Given the description of an element on the screen output the (x, y) to click on. 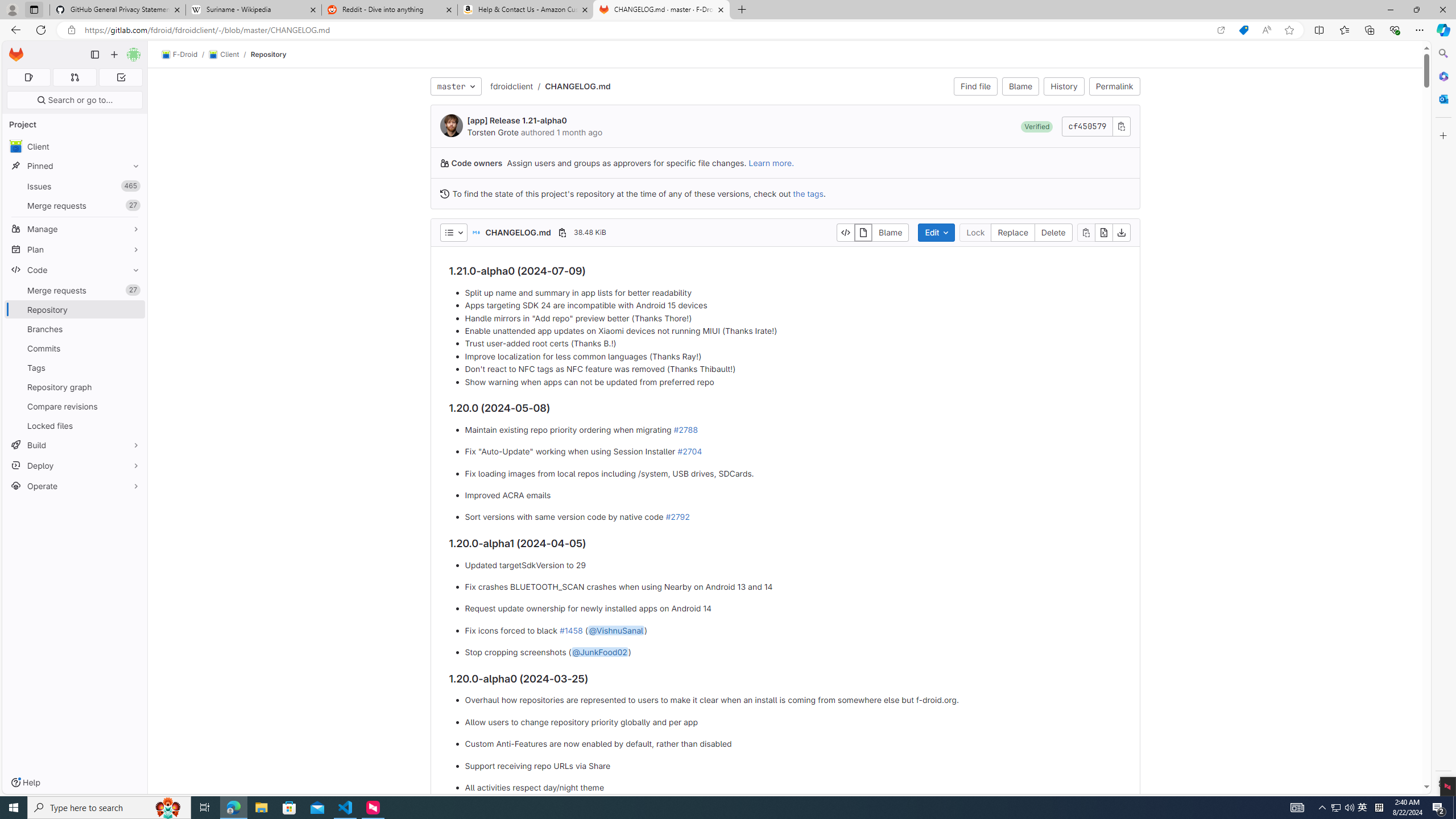
Delete (1053, 232)
Class: s16 gl-mr-1 gl-align-text-bottom (444, 193)
Build (74, 444)
Assigned issues 0 (28, 76)
Handle mirrors in "Add repo" preview better (Thanks Thore!) (792, 318)
Sort versions with same version code by native code #2792 (792, 517)
Branches (74, 328)
#1458 (570, 629)
Lock (975, 232)
Create new... (113, 54)
Issues465 (74, 185)
